Given the description of an element on the screen output the (x, y) to click on. 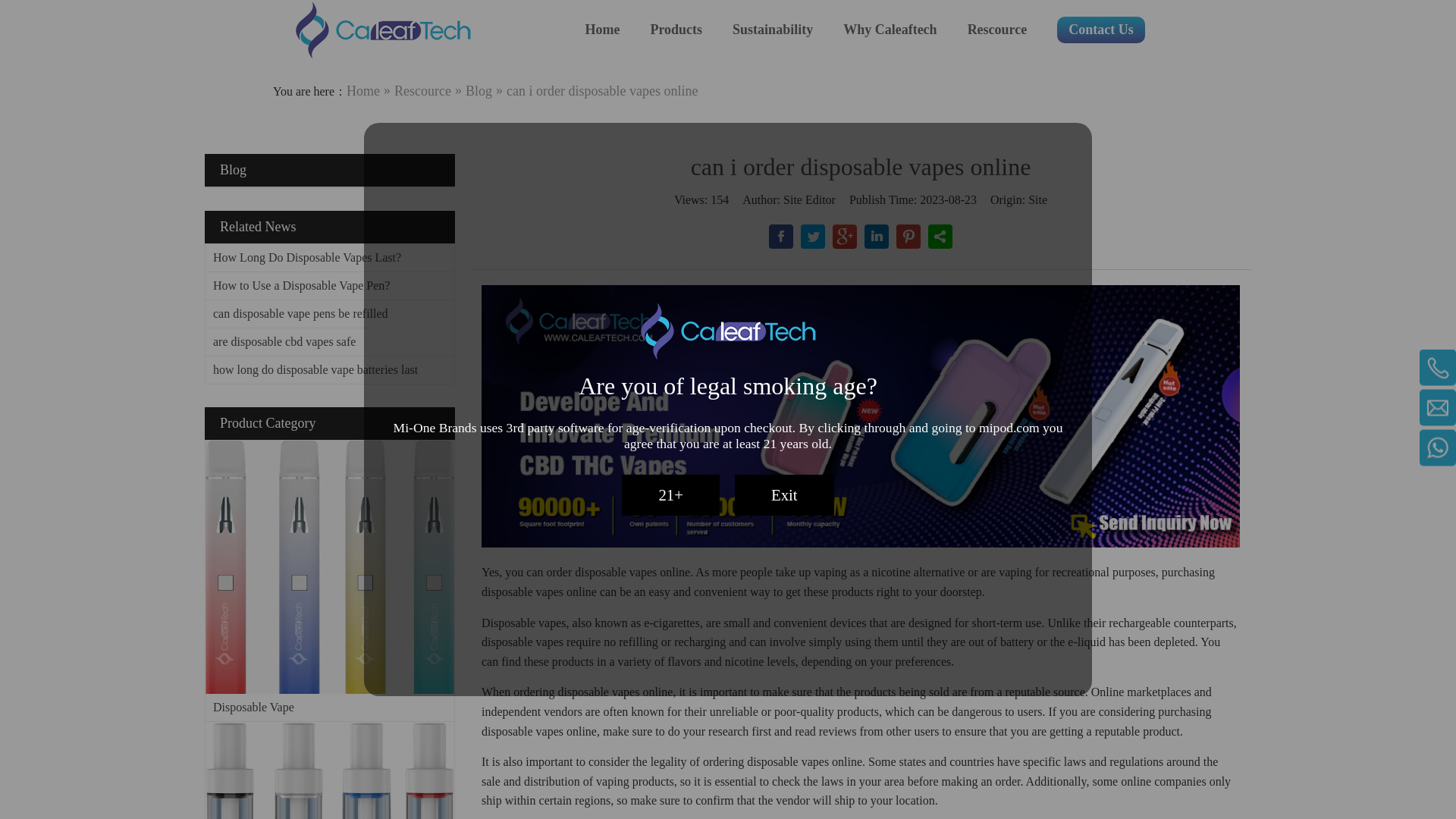
Sustainability (772, 30)
Caleaftech (382, 30)
Rescource (997, 30)
Contact Us (1100, 29)
Products (675, 30)
Vape Cartridge (329, 770)
Home (602, 30)
Why Caleaftech (889, 30)
Disposable Vape (329, 566)
